Given the description of an element on the screen output the (x, y) to click on. 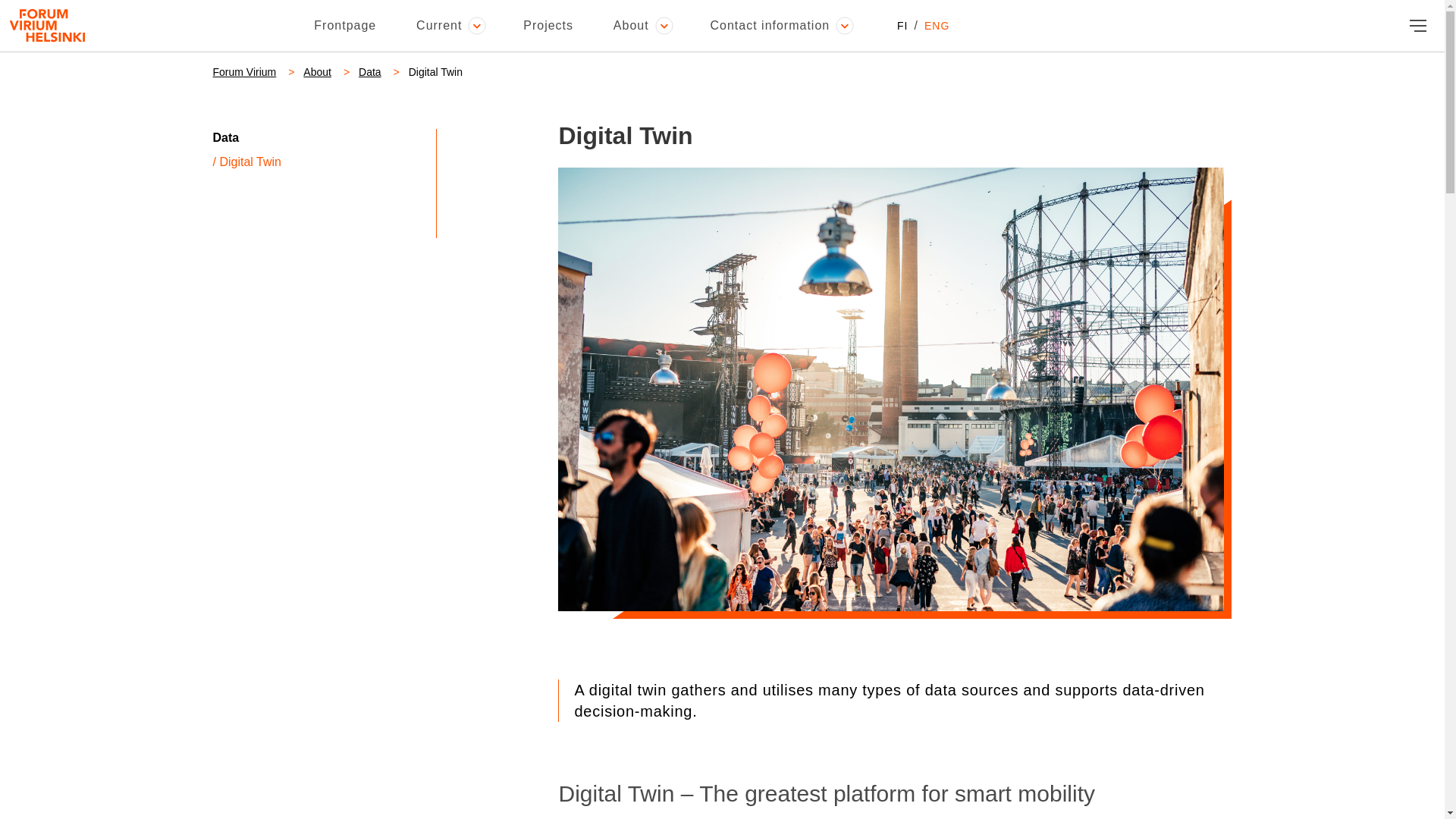
Contact information (780, 25)
Frontpage (344, 25)
ENG (936, 26)
Projects (547, 25)
Current (449, 25)
FI (902, 26)
About (641, 25)
